Given the description of an element on the screen output the (x, y) to click on. 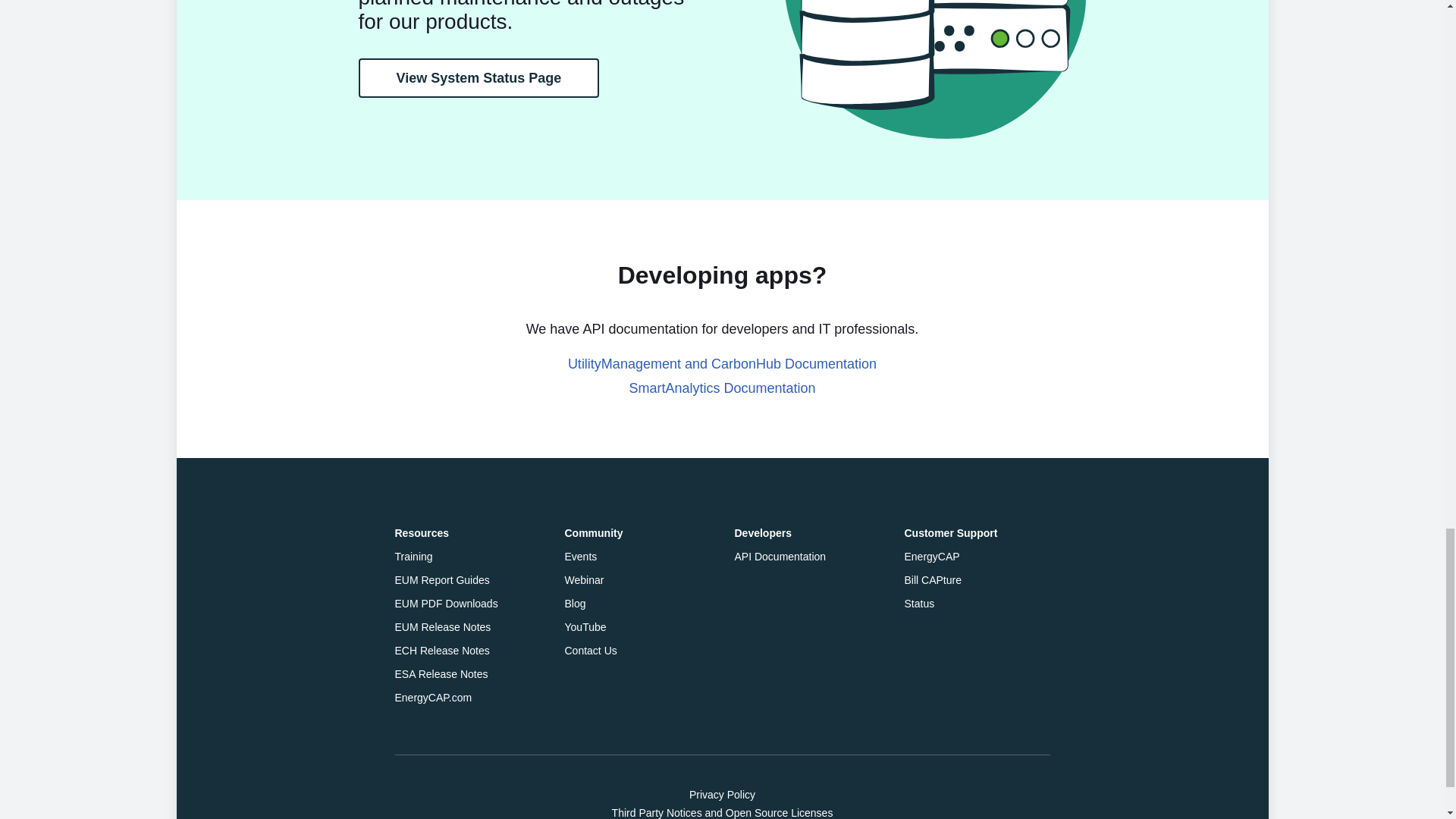
SmartAnalytics Documentation (721, 387)
Events (580, 556)
EnergyCAP.com (432, 697)
EUM Release Notes (442, 626)
View System Status Page (478, 77)
Webinar (584, 580)
ESA Release Notes (440, 674)
EnergyCAP (931, 556)
Privacy Policy (721, 794)
Bill CAPture (932, 580)
Training (413, 556)
Contact Us (589, 650)
Status (919, 603)
ECH Release Notes (441, 650)
EUM Report Guides (441, 580)
